Given the description of an element on the screen output the (x, y) to click on. 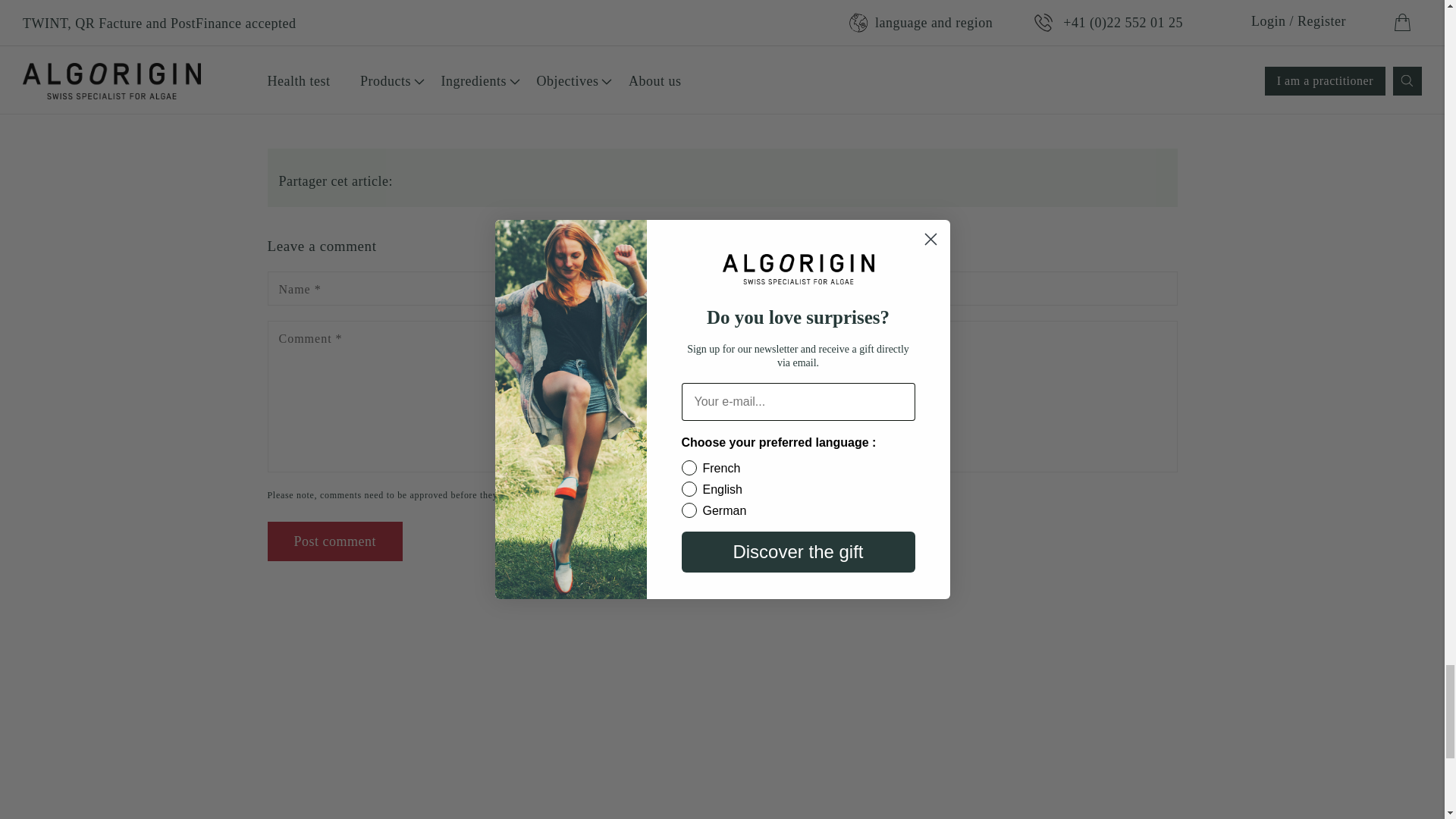
Post comment (334, 541)
